Given the description of an element on the screen output the (x, y) to click on. 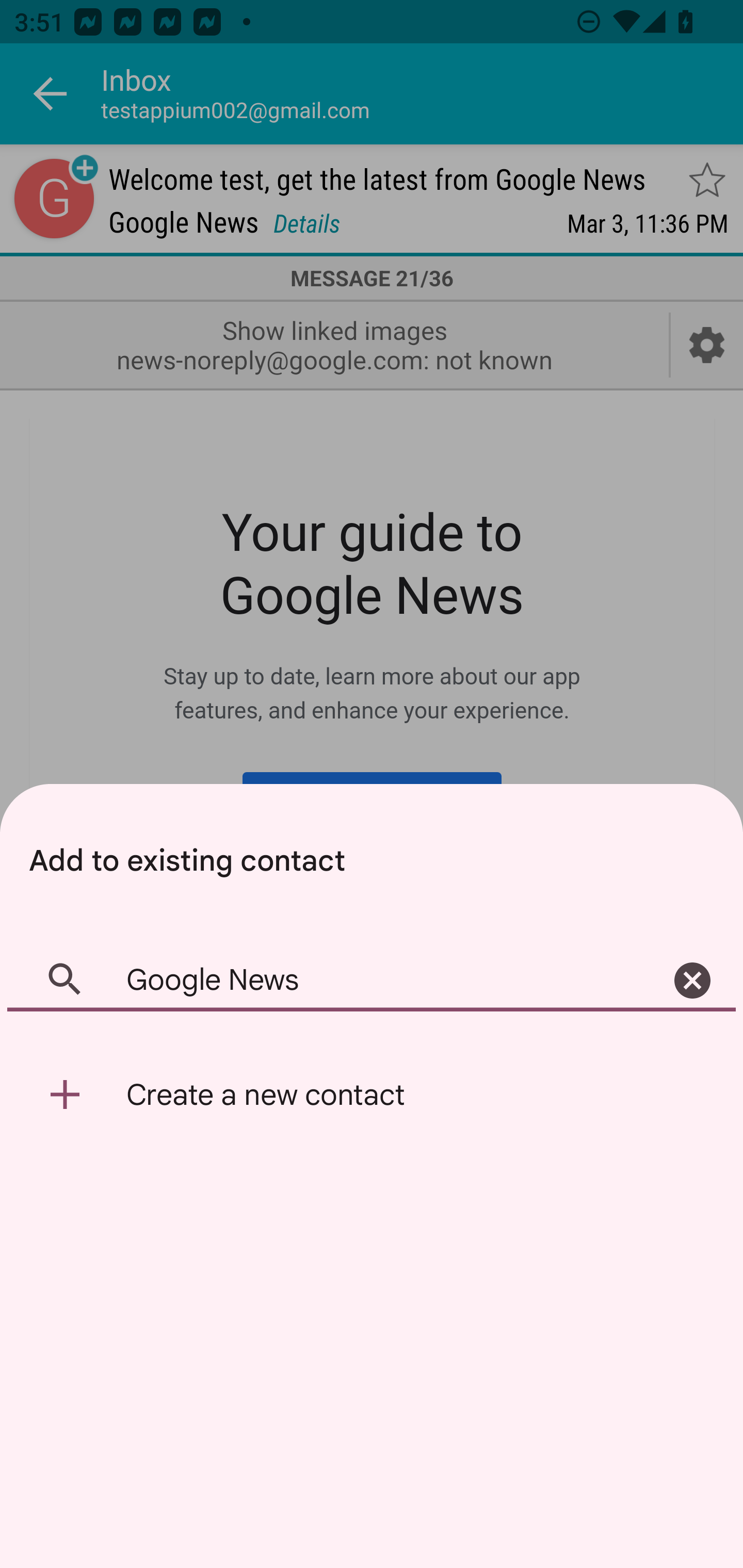
Google News (371, 980)
Clear search (692, 980)
Create a new contact (371, 1094)
